Given the description of an element on the screen output the (x, y) to click on. 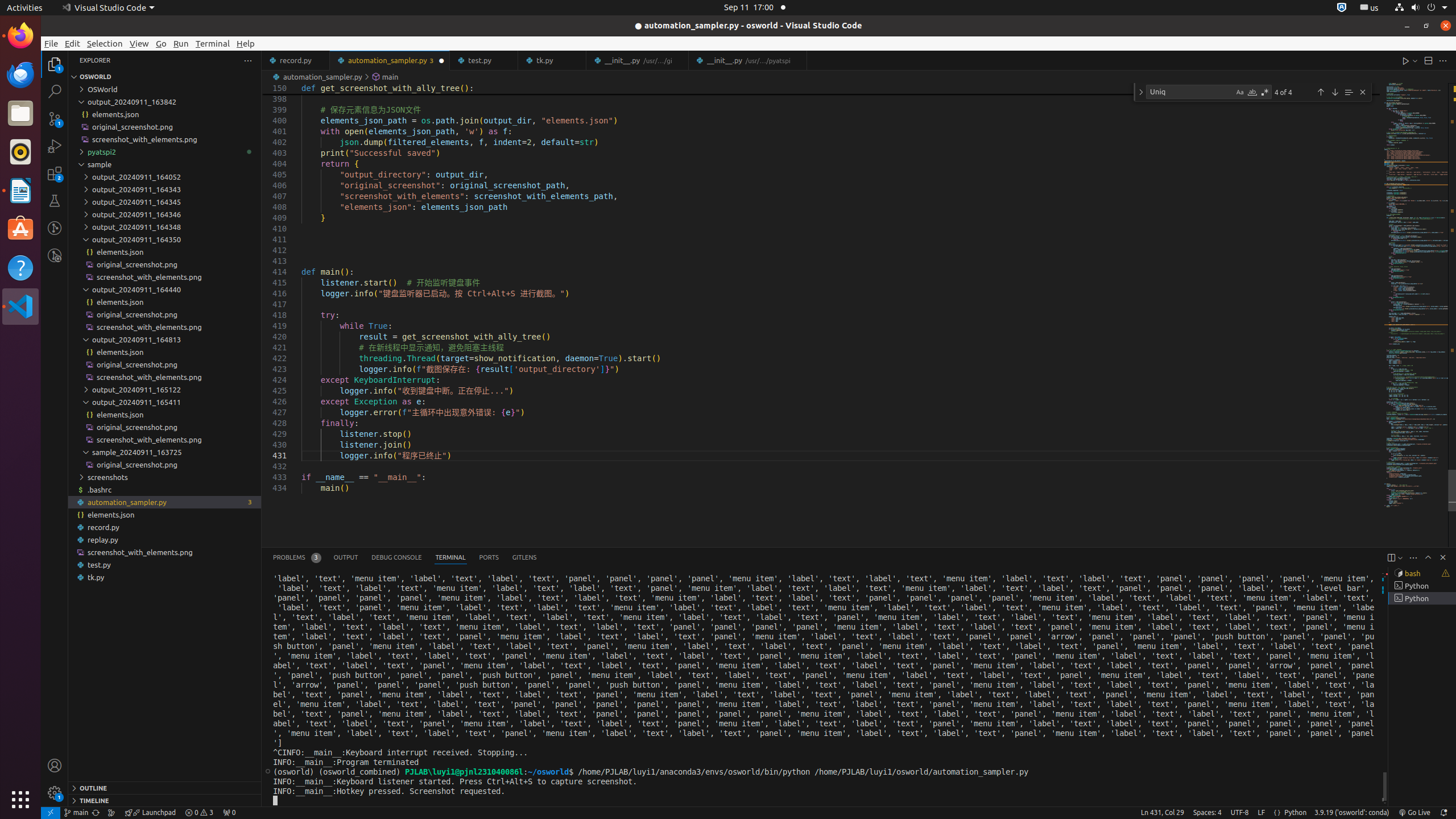
Python Element type: push-button (1295, 812)
elements.json Element type: tree-item (164, 514)
output_20240911_164350 Element type: tree-item (164, 239)
Warnings: 3 Element type: push-button (199, 812)
